Given the description of an element on the screen output the (x, y) to click on. 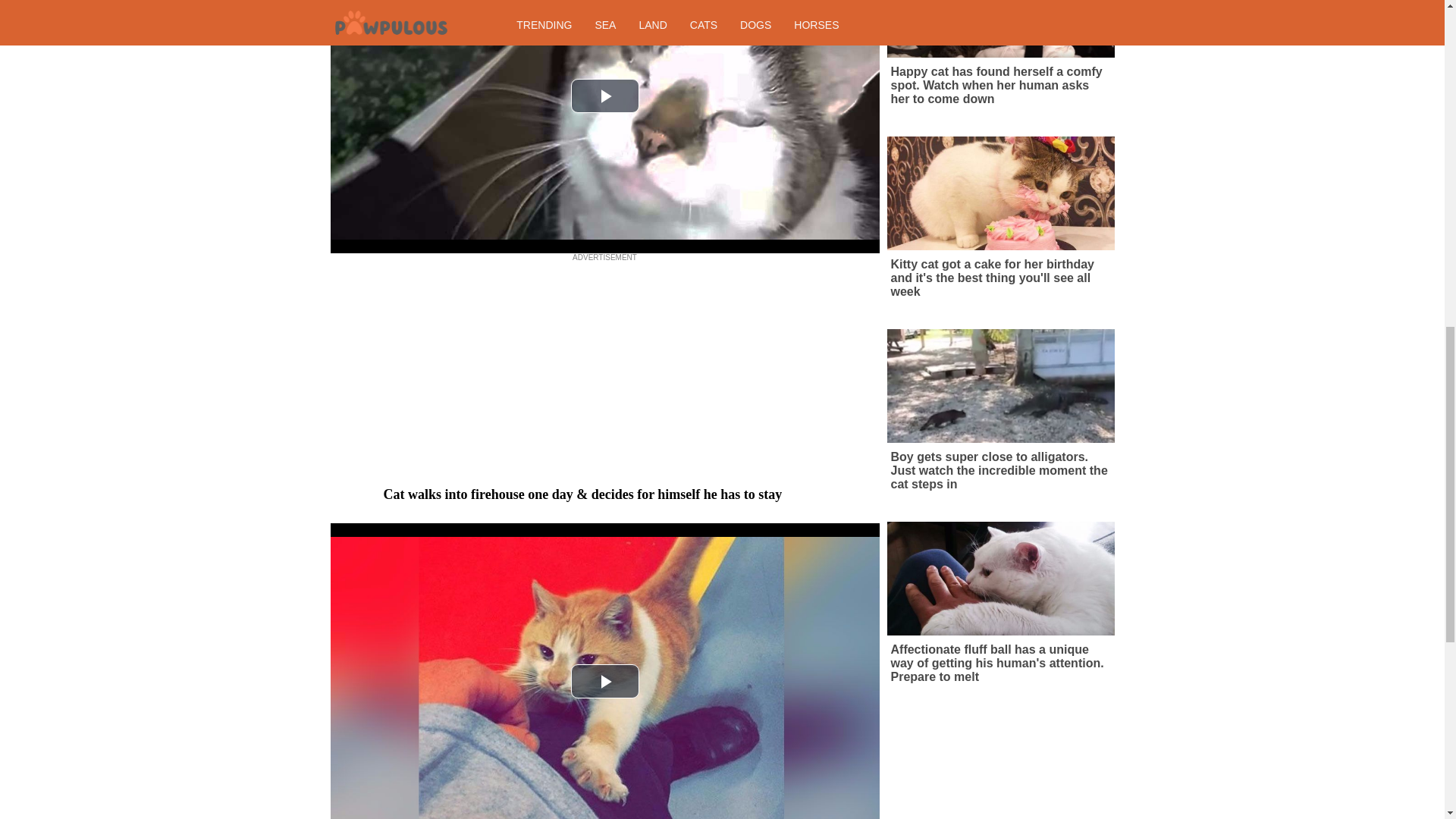
Privacy Policy (774, 62)
Terms of Use (700, 62)
About Ads (635, 62)
Play Video (604, 681)
Do Not Sell My Info (861, 62)
Play Video (604, 95)
Play Video (604, 95)
